Given the description of an element on the screen output the (x, y) to click on. 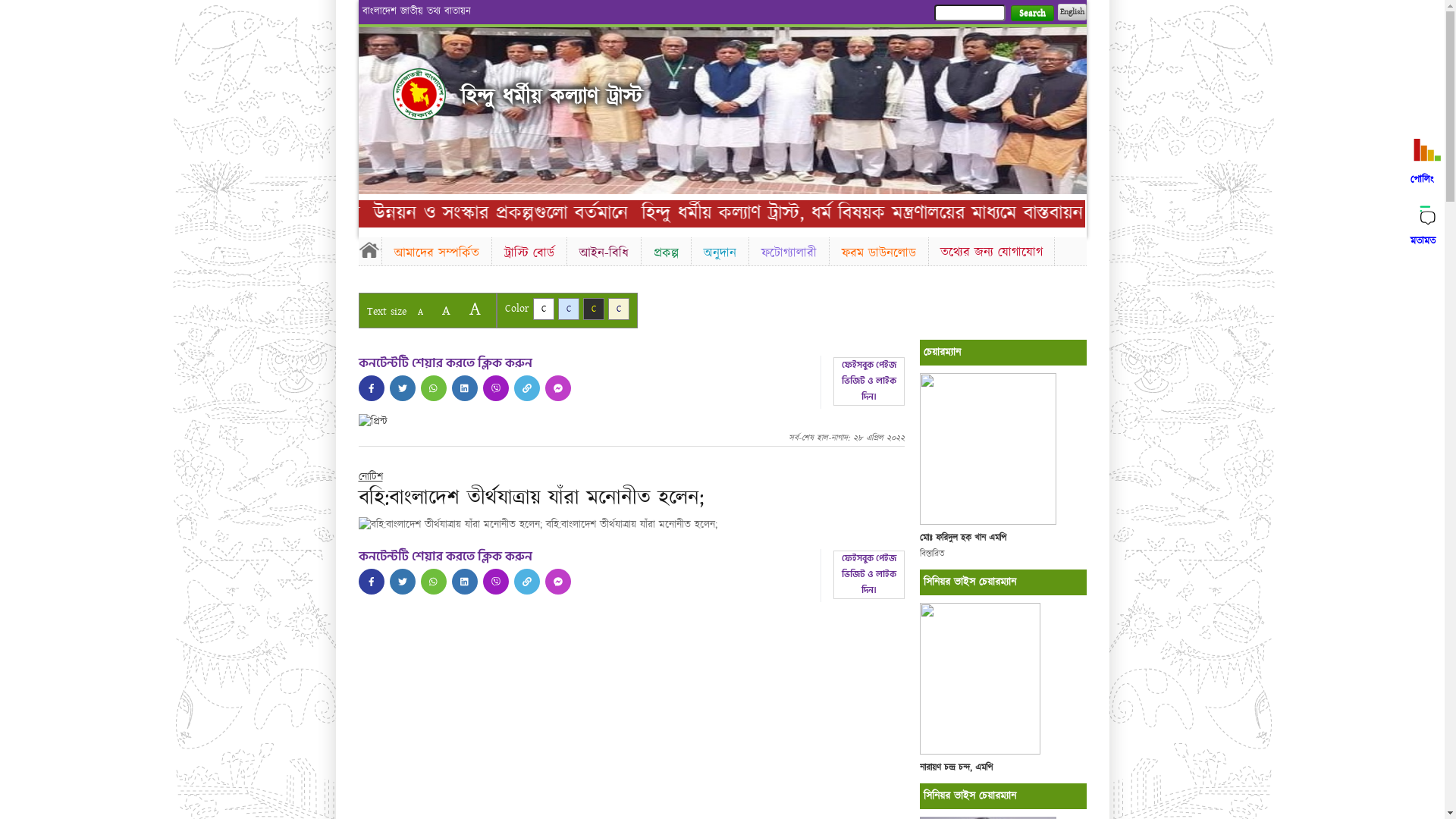
Search Element type: text (1031, 13)
Home Element type: hover (418, 93)
A Element type: text (445, 310)
C Element type: text (618, 309)
C Element type: text (592, 309)
C Element type: text (568, 309)
A Element type: text (419, 311)
English Element type: text (1071, 11)
C Element type: text (542, 309)
Home Element type: hover (368, 249)
A Element type: text (474, 308)
